Given the description of an element on the screen output the (x, y) to click on. 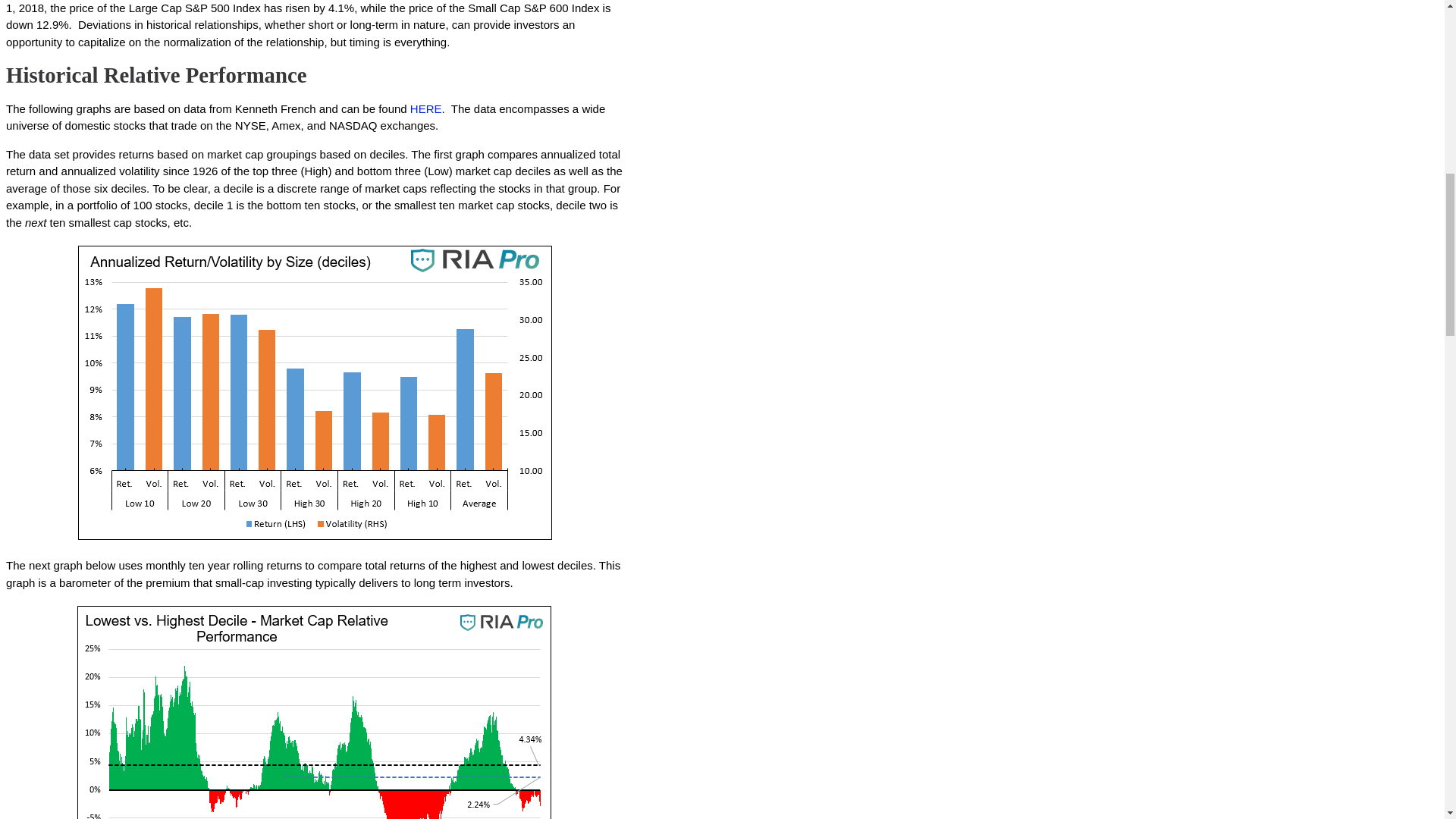
HERE (426, 108)
